Given the description of an element on the screen output the (x, y) to click on. 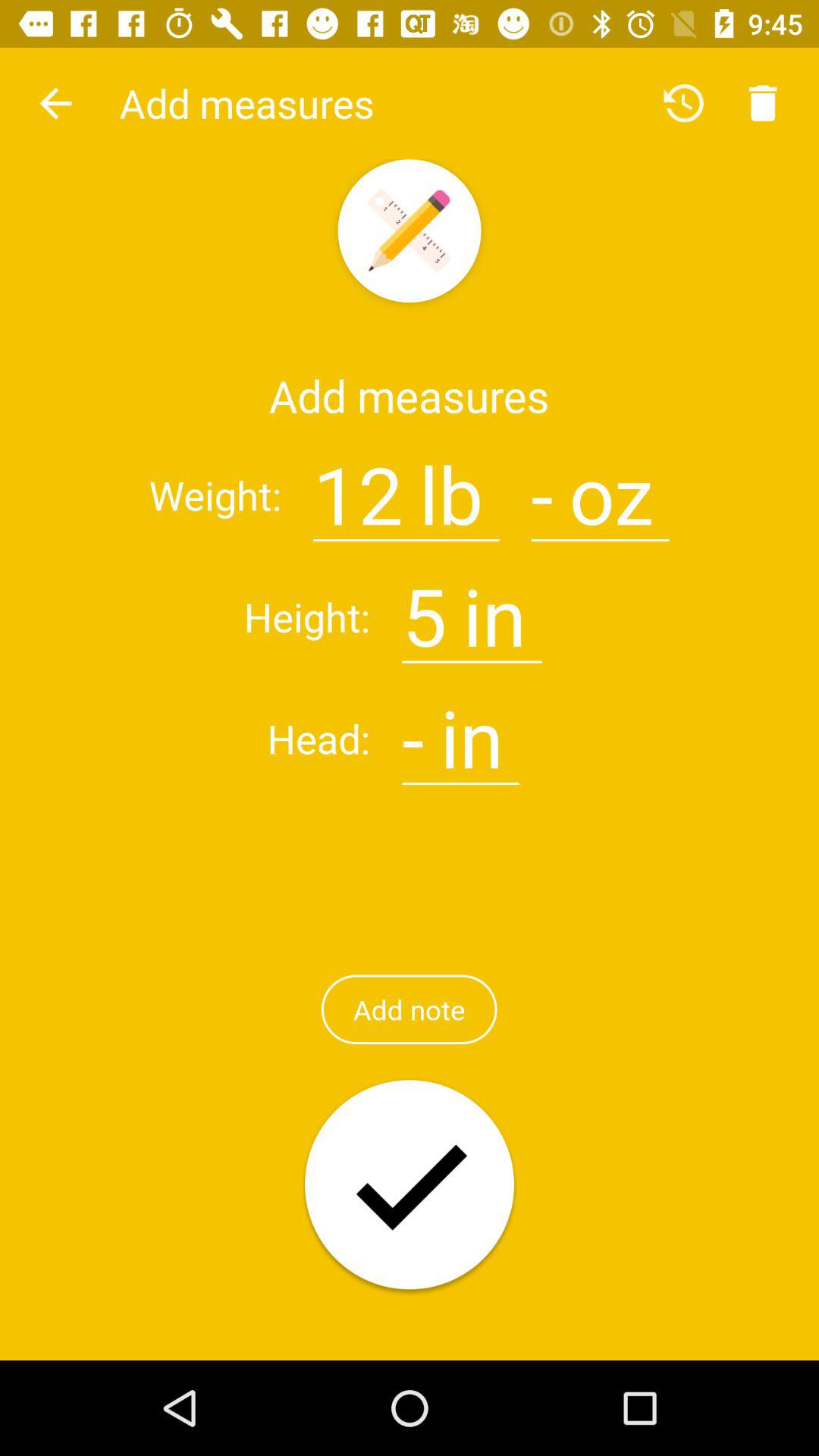
open item below the add measures (358, 485)
